Given the description of an element on the screen output the (x, y) to click on. 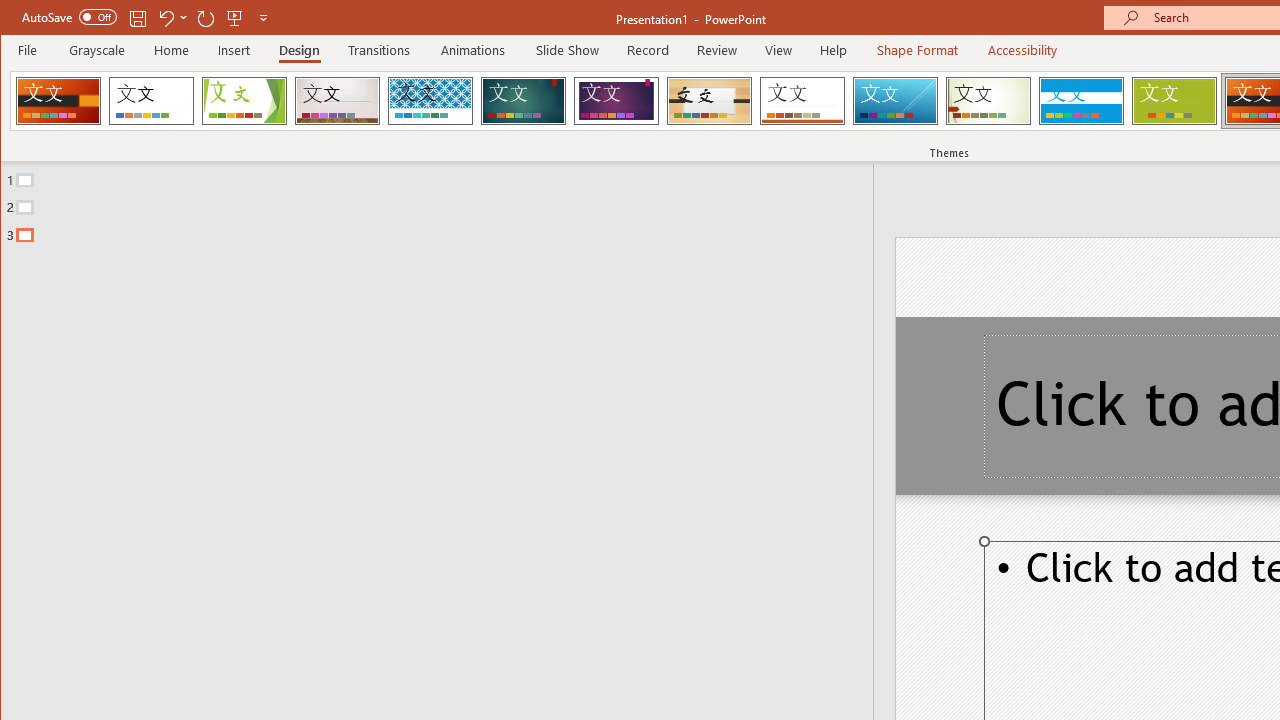
Integral (430, 100)
Slice (895, 100)
Retrospect (802, 100)
Wisp (988, 100)
Facet (244, 100)
